Given the description of an element on the screen output the (x, y) to click on. 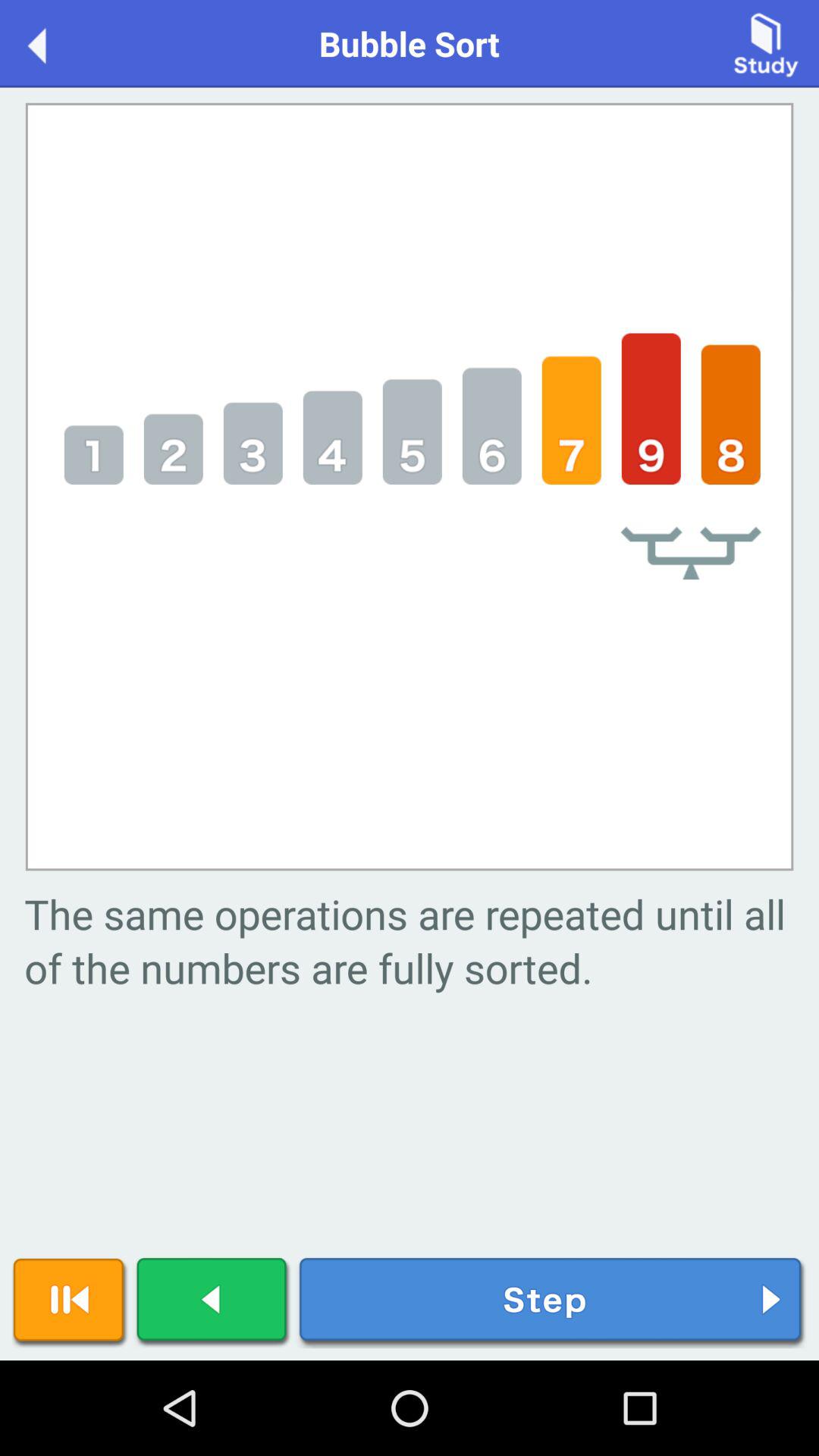
choose icon to the right of the bubble sort icon (766, 42)
